Given the description of an element on the screen output the (x, y) to click on. 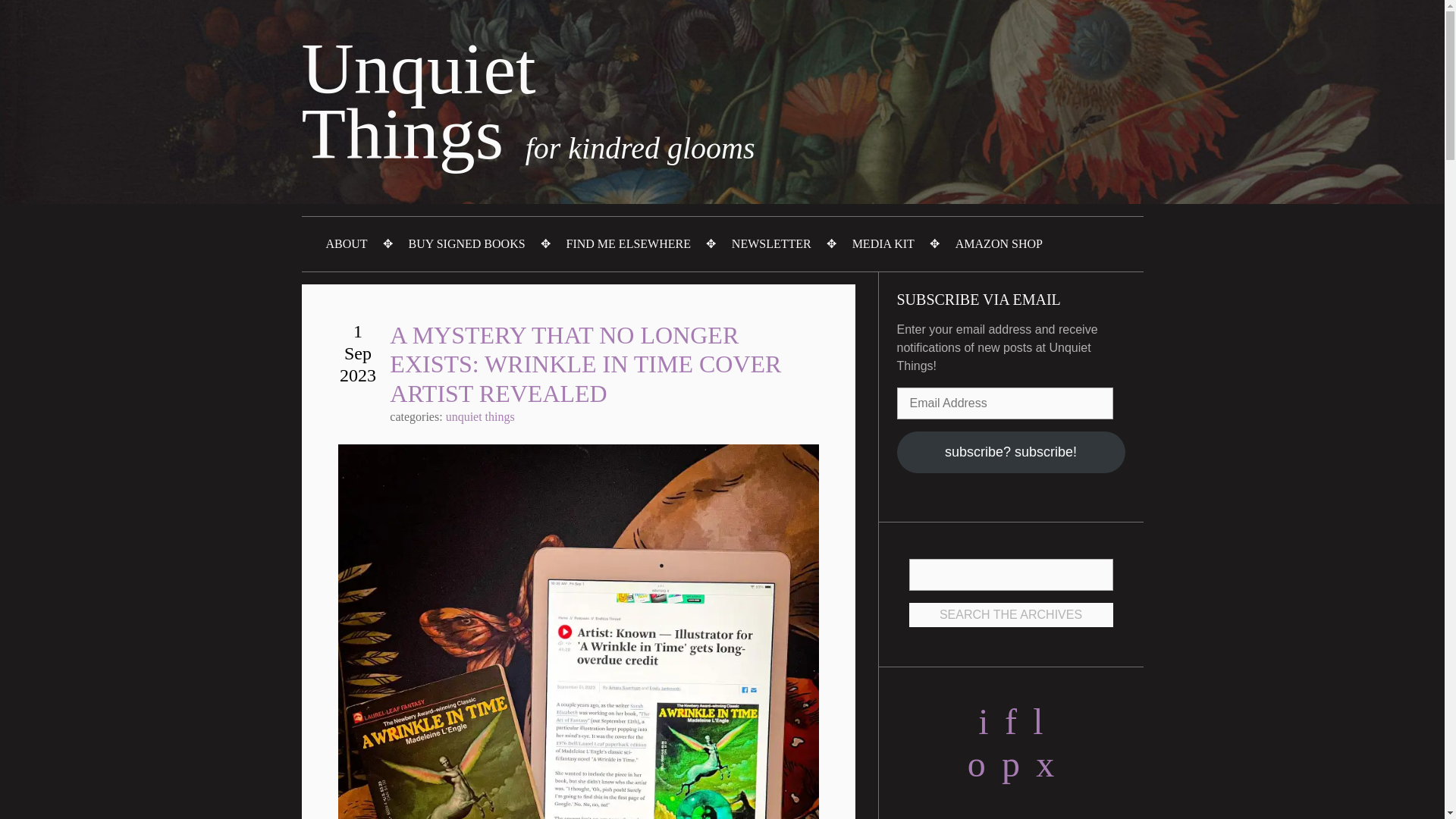
FIND ME ELSEWHERE (628, 244)
Search (1010, 574)
unquiet things (480, 416)
MEDIA KIT (883, 244)
AMAZON SHOP (998, 244)
ABOUT (347, 244)
BUY SIGNED BOOKS (466, 244)
NEWSLETTER (771, 244)
